Given the description of an element on the screen output the (x, y) to click on. 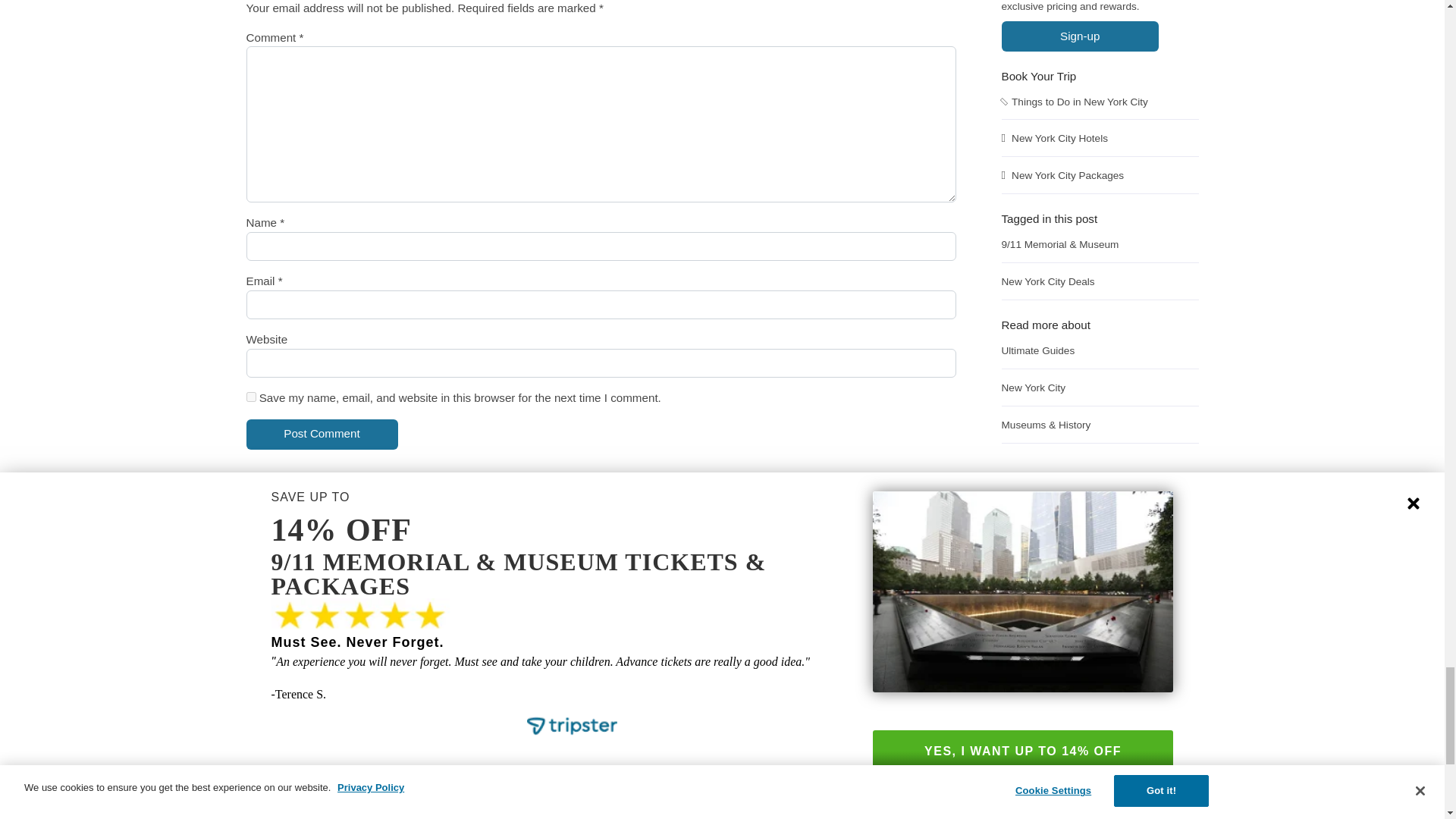
Post Comment (321, 434)
yes (251, 397)
